Given the description of an element on the screen output the (x, y) to click on. 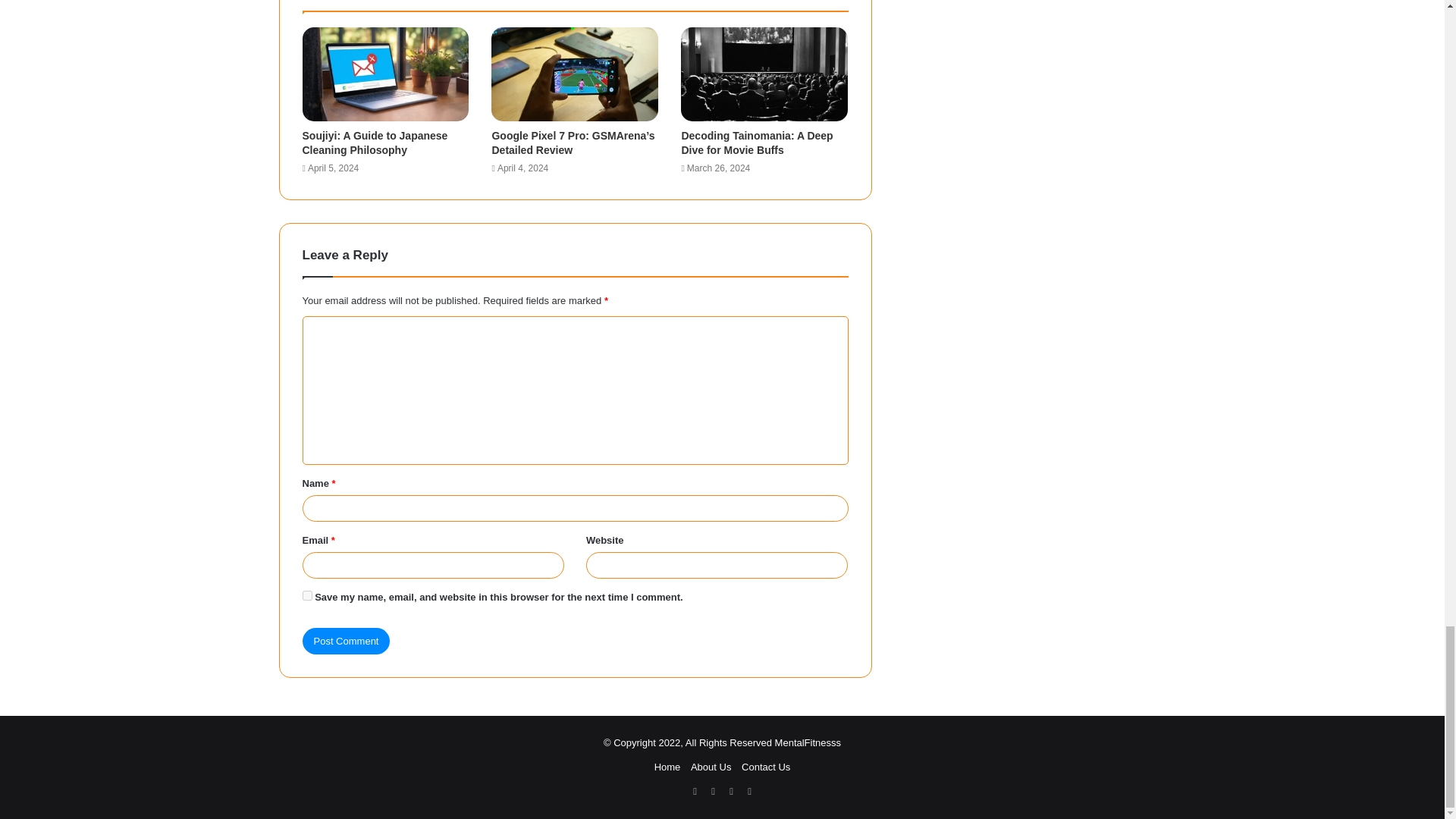
yes (306, 595)
Post Comment (345, 641)
